Given the description of an element on the screen output the (x, y) to click on. 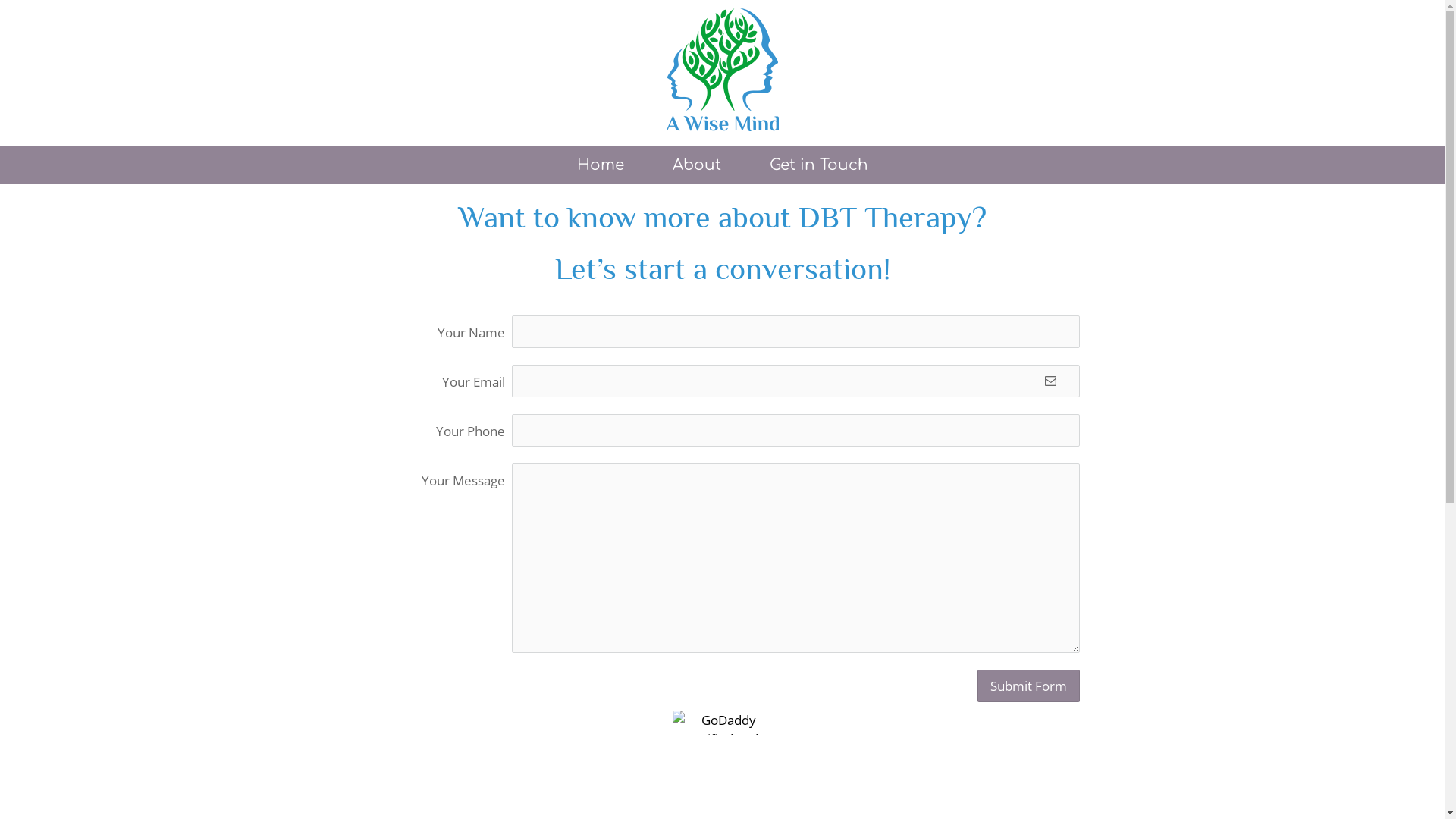
Submit Form Element type: text (1027, 684)
About Element type: text (696, 164)
Get in Touch Element type: text (818, 164)
Home Element type: text (599, 164)
